Given the description of an element on the screen output the (x, y) to click on. 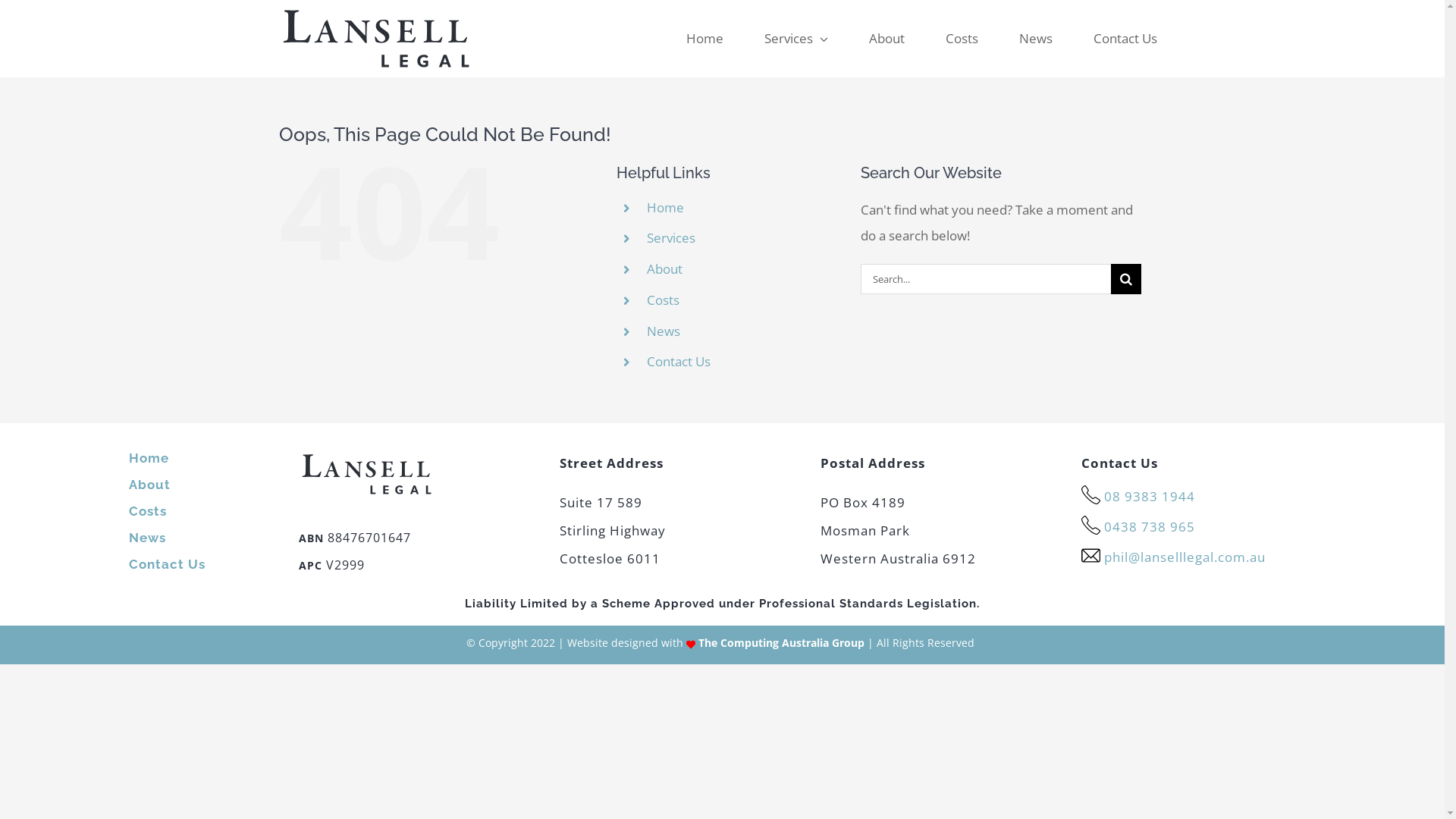
News Element type: text (1035, 38)
About Element type: text (886, 38)
About Element type: text (149, 484)
08 9383 1944 Element type: text (1149, 496)
0438 738 965 Element type: text (1149, 526)
Contact Us Element type: text (1125, 38)
About Element type: text (664, 268)
phil@lanselllegal.com.au Element type: text (1184, 556)
Home Element type: text (665, 207)
News Element type: text (147, 537)
Costs Element type: text (662, 299)
Home Element type: text (148, 457)
Home Element type: text (704, 38)
Contact Us Element type: text (678, 361)
Services Element type: text (670, 237)
Costs Element type: text (147, 510)
The Computing Australia Group Element type: text (781, 642)
Services Element type: text (796, 38)
Costs Element type: text (961, 38)
Logo lansell legal Element type: hover (366, 473)
News Element type: text (663, 330)
Contact Us Element type: text (166, 563)
